Given the description of an element on the screen output the (x, y) to click on. 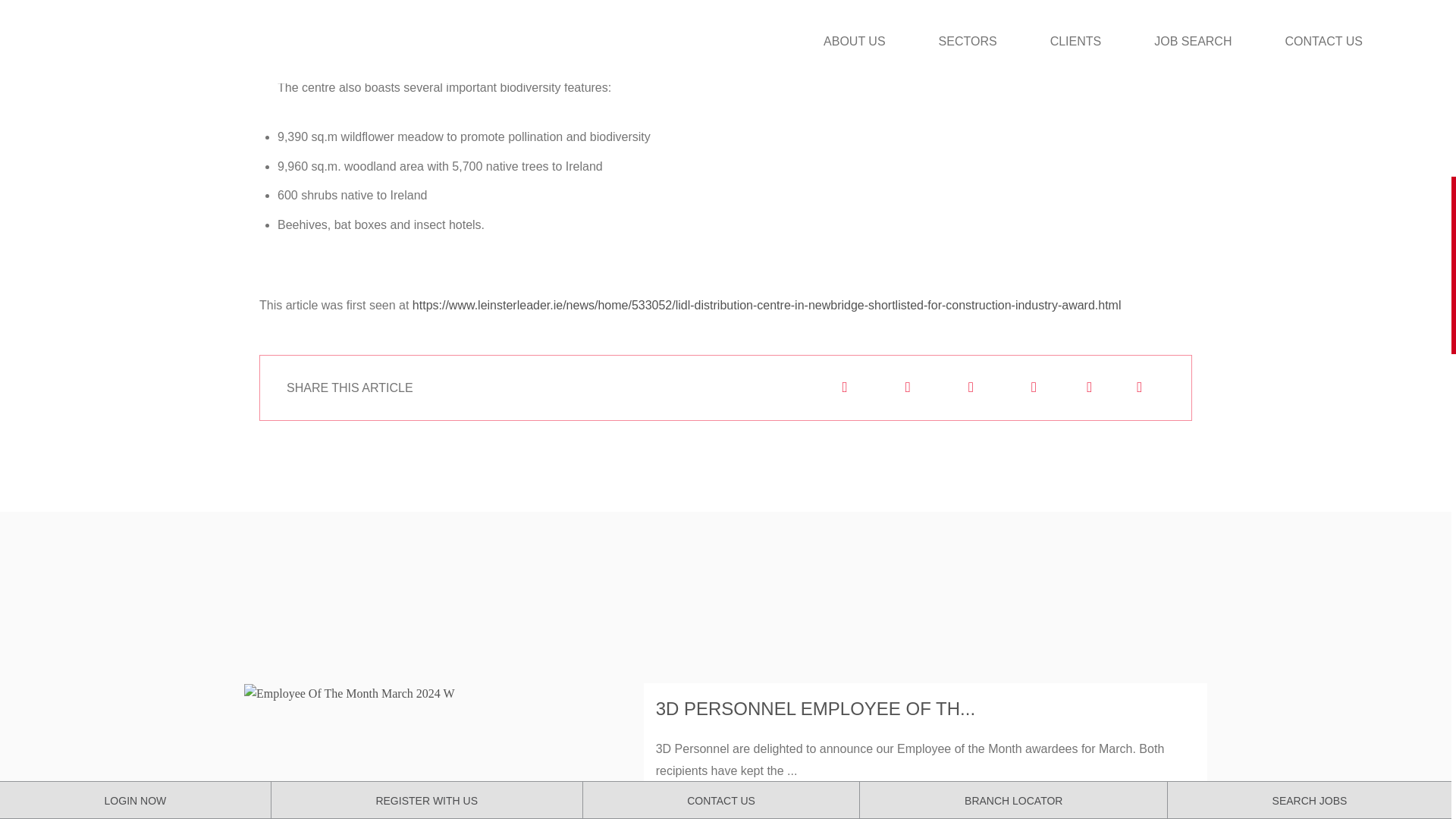
whatsApp (1032, 386)
Facebook (969, 386)
LinkedIn (906, 386)
Email (843, 386)
